Given the description of an element on the screen output the (x, y) to click on. 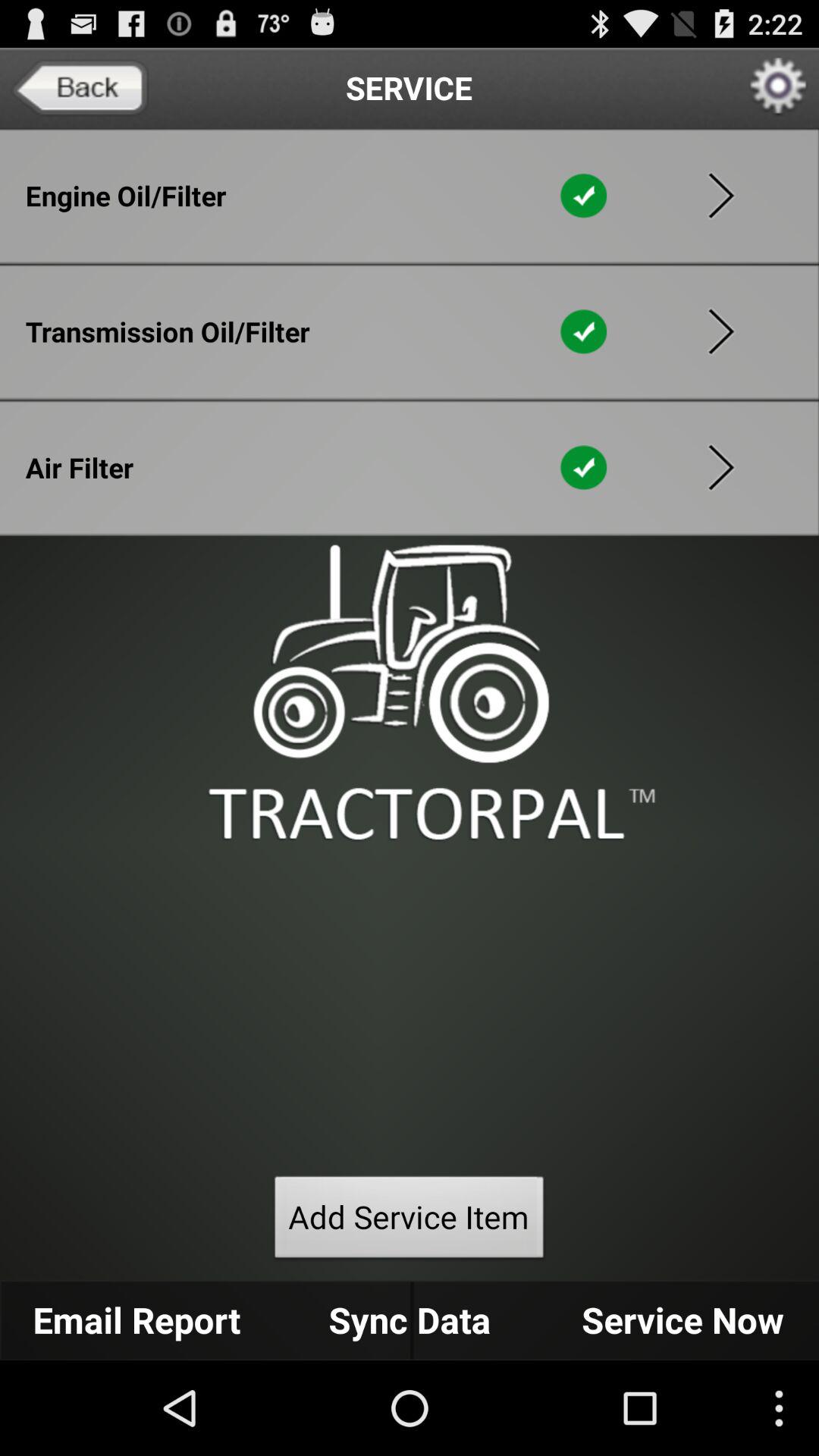
open in order to select this item (721, 195)
